Given the description of an element on the screen output the (x, y) to click on. 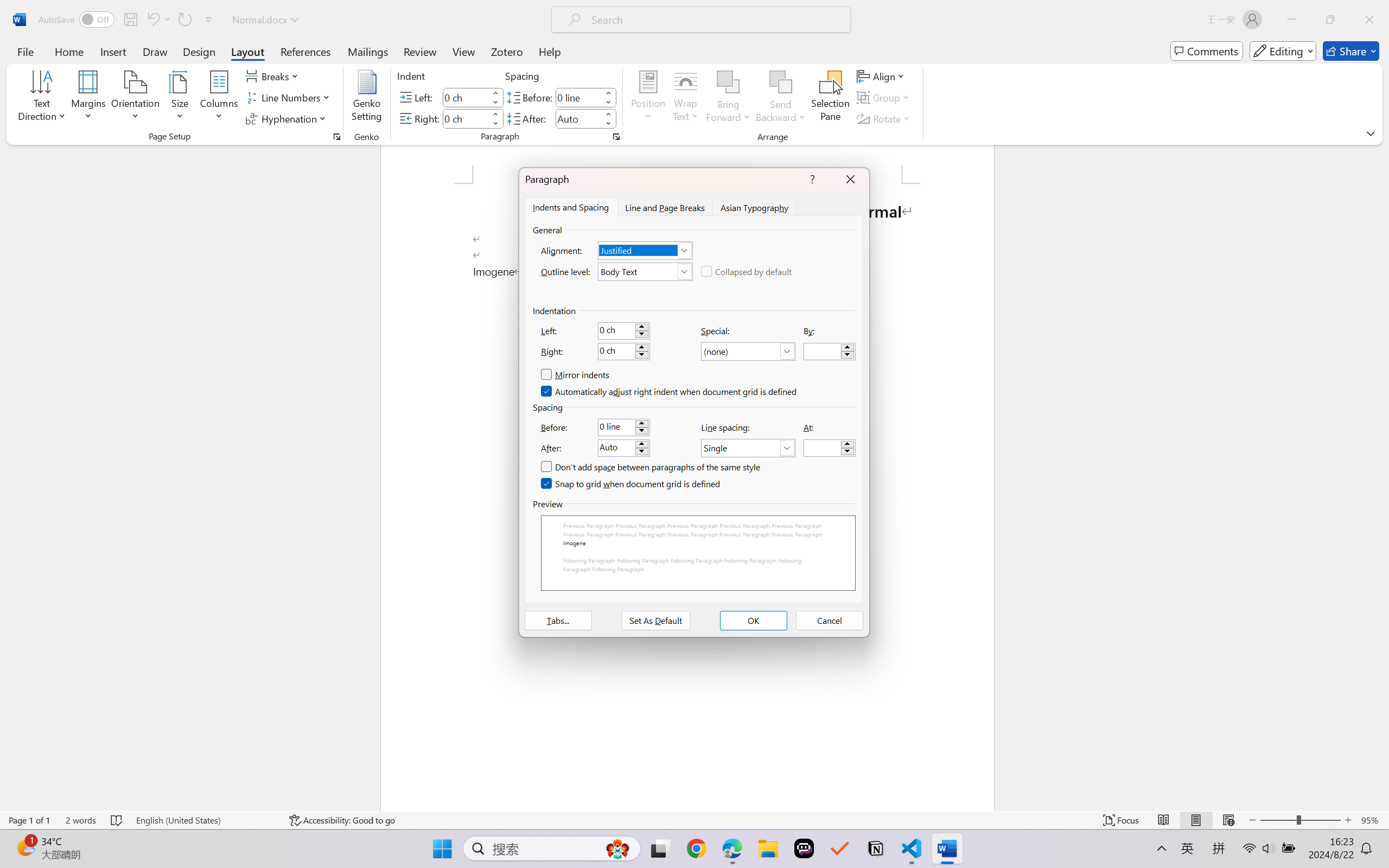
Line Numbers (289, 97)
Don't add space between paragraphs of the same style (651, 466)
Group (884, 97)
Page Setup... (336, 136)
Class: NetUIScrollBar (1382, 477)
Notion (875, 848)
